Given the description of an element on the screen output the (x, y) to click on. 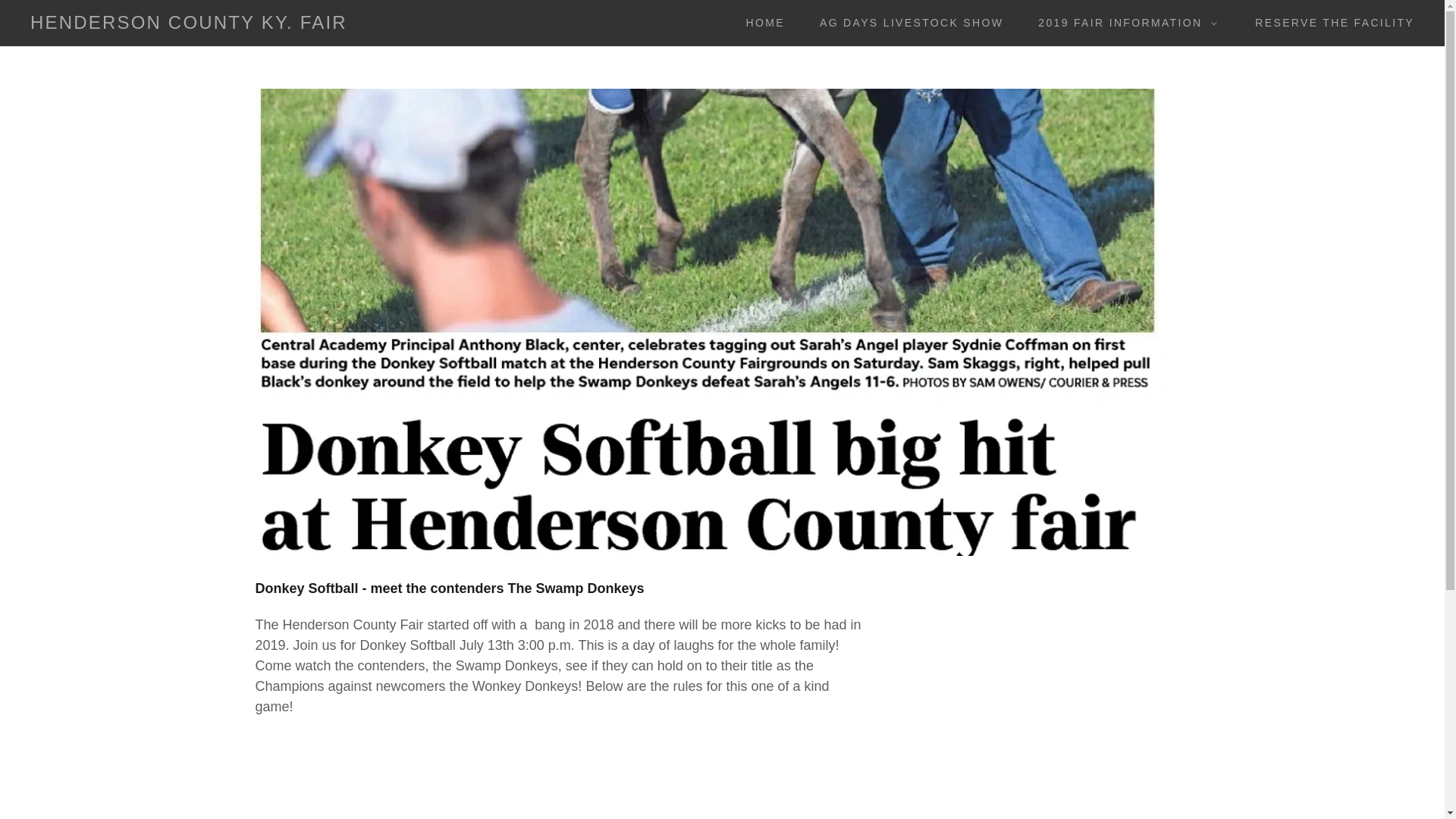
2019 FAIR INFORMATION (1123, 22)
RESERVE THE FACILITY (1329, 22)
HENDERSON COUNTY KY. FAIR (188, 23)
Henderson County Ky. Fair (188, 23)
AG DAYS LIVESTOCK SHOW (906, 22)
HOME (759, 22)
